Given the description of an element on the screen output the (x, y) to click on. 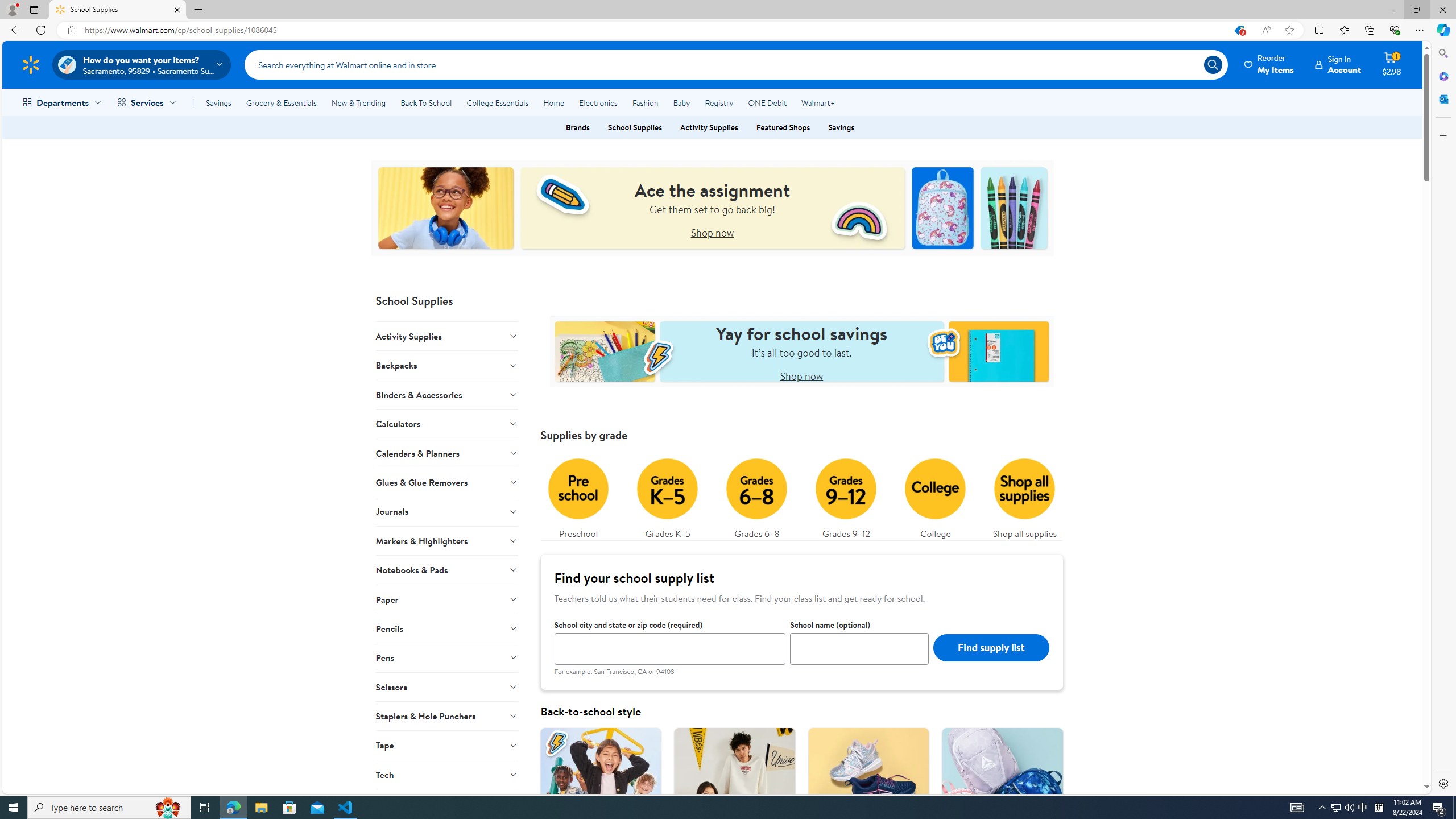
Binders & Accessories (446, 394)
College Essentials (496, 102)
Fashion (644, 102)
Electronics (598, 102)
Whiteboards & Blackboards (446, 803)
School Supplies (117, 9)
Baby (681, 102)
